Given the description of an element on the screen output the (x, y) to click on. 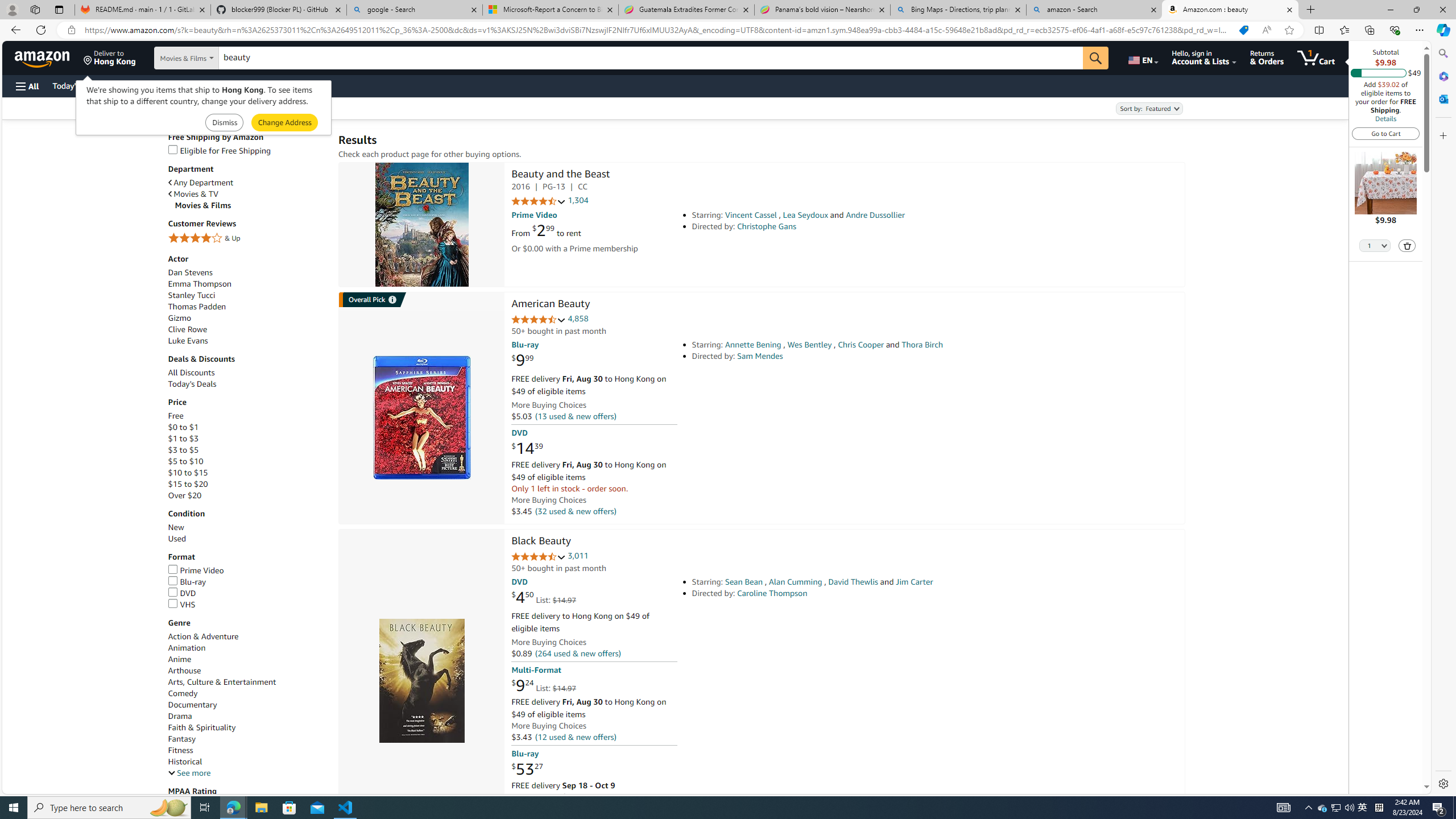
4 Stars & Up (247, 238)
Emma Thompson (247, 284)
Historical (247, 761)
amazon - Search (1094, 9)
Submit (284, 122)
Faith & Spirituality (247, 727)
$53.27 (527, 768)
Movies & TV (247, 194)
Jim Carter (914, 581)
DVD (181, 592)
Annette Bening (753, 344)
